Given the description of an element on the screen output the (x, y) to click on. 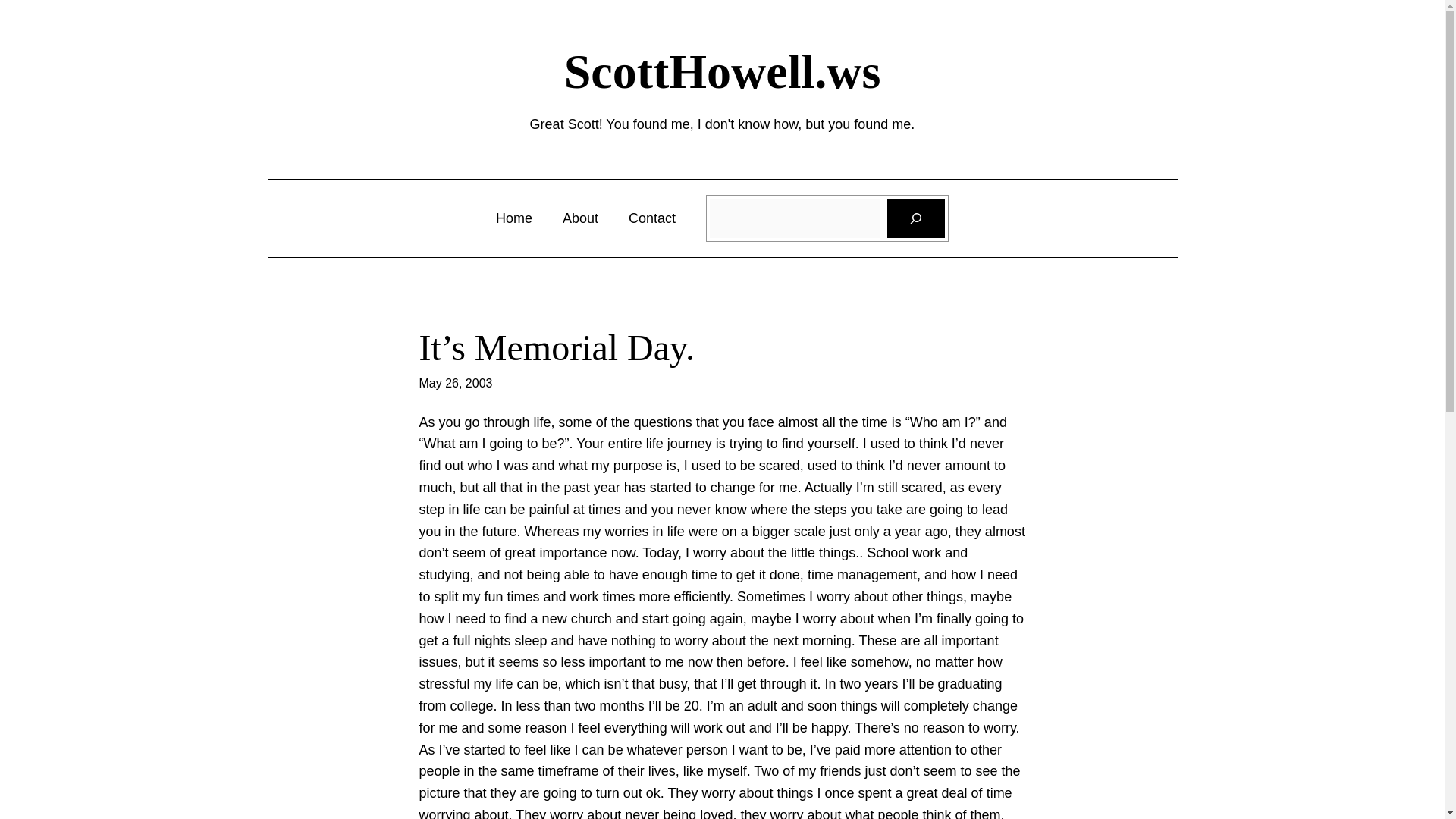
Home (514, 219)
About (580, 219)
ScottHowell.ws (722, 71)
Home (514, 219)
Contact (651, 219)
